Given the description of an element on the screen output the (x, y) to click on. 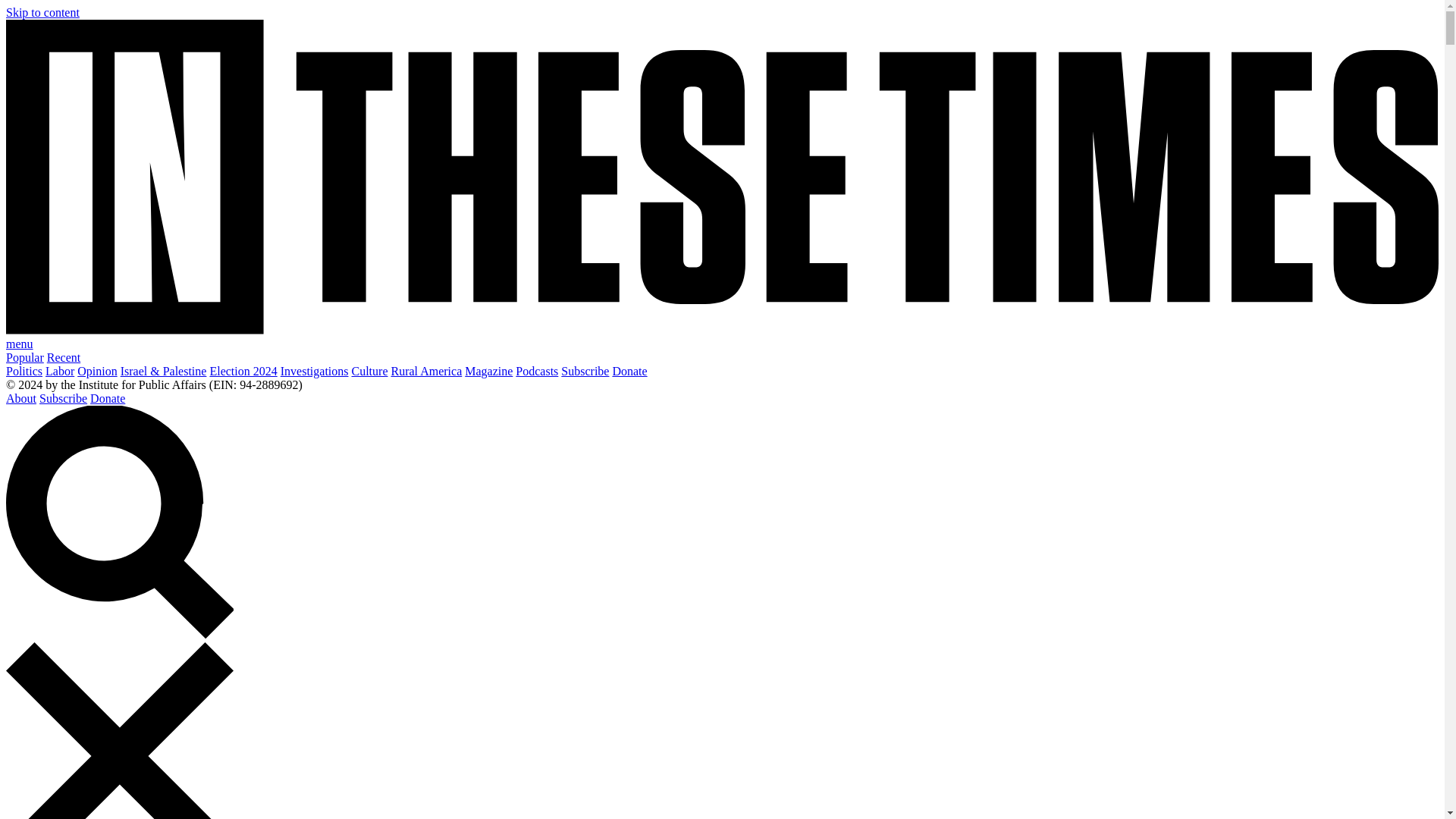
Magazine (488, 370)
Labor (59, 370)
Culture (370, 370)
search (118, 522)
close (118, 730)
Popular (24, 357)
Election 2024 (242, 370)
Investigations (315, 370)
Subscribe (63, 398)
Subscribe (584, 370)
